Given the description of an element on the screen output the (x, y) to click on. 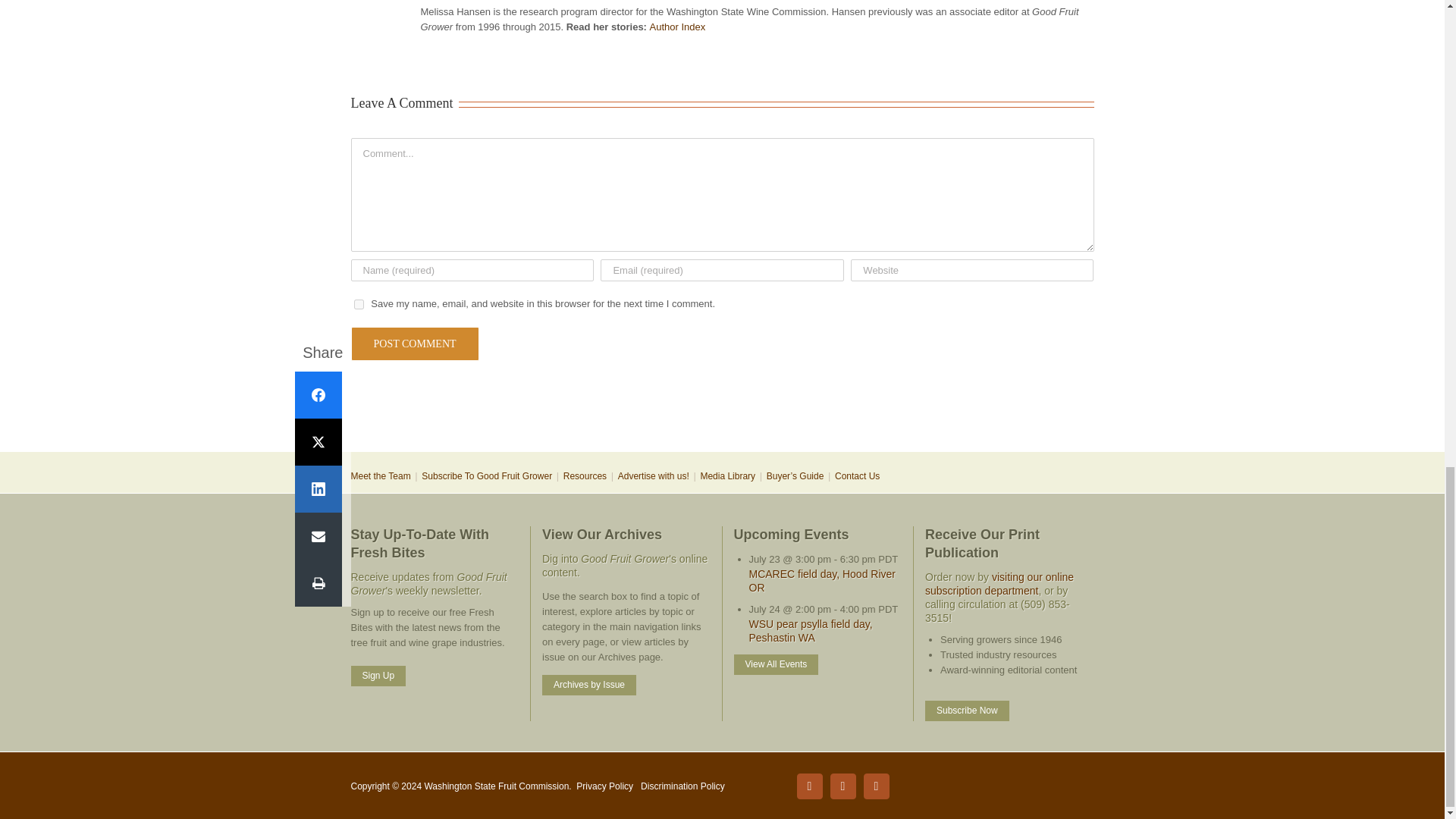
yes (357, 304)
Post Comment (414, 343)
3rd party ad content (721, 401)
